Given the description of an element on the screen output the (x, y) to click on. 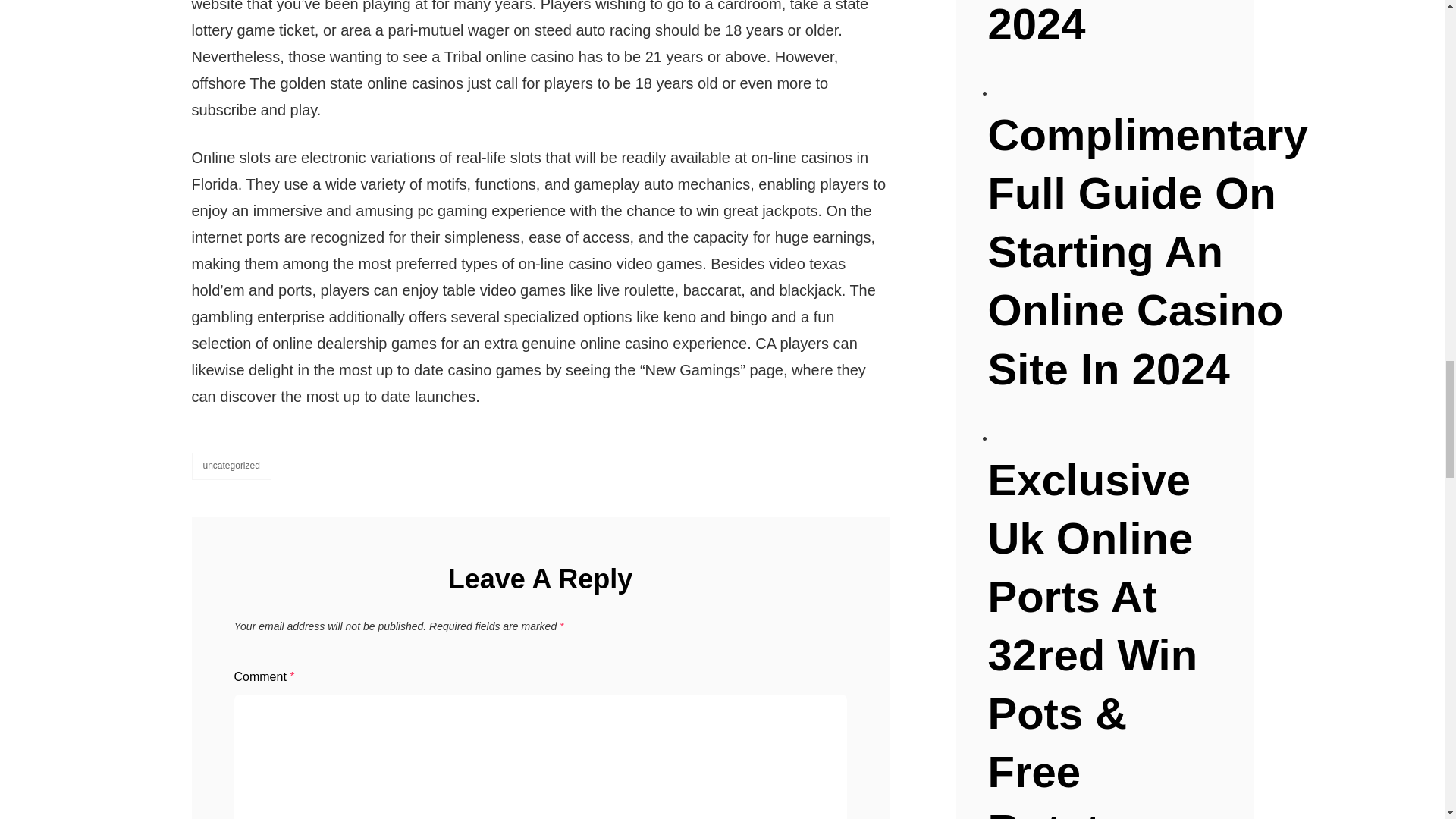
uncategorized (230, 465)
